Given the description of an element on the screen output the (x, y) to click on. 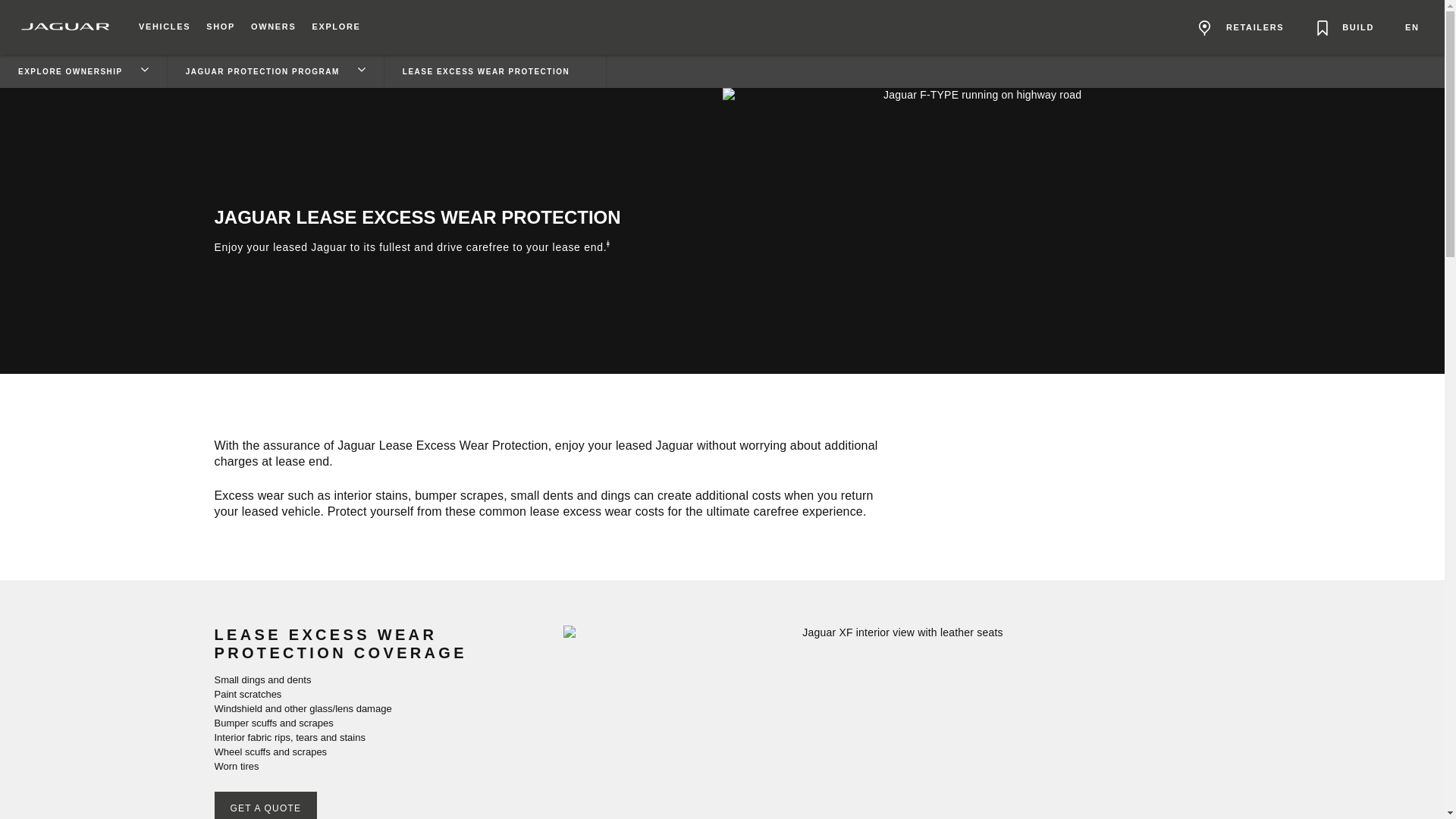
RETAILERS (1240, 35)
VEHICLES (164, 27)
EXPLORE OWNERSHIP (83, 70)
BUILD (1344, 35)
EXPLORE (336, 27)
OWNERS (272, 27)
